Given the description of an element on the screen output the (x, y) to click on. 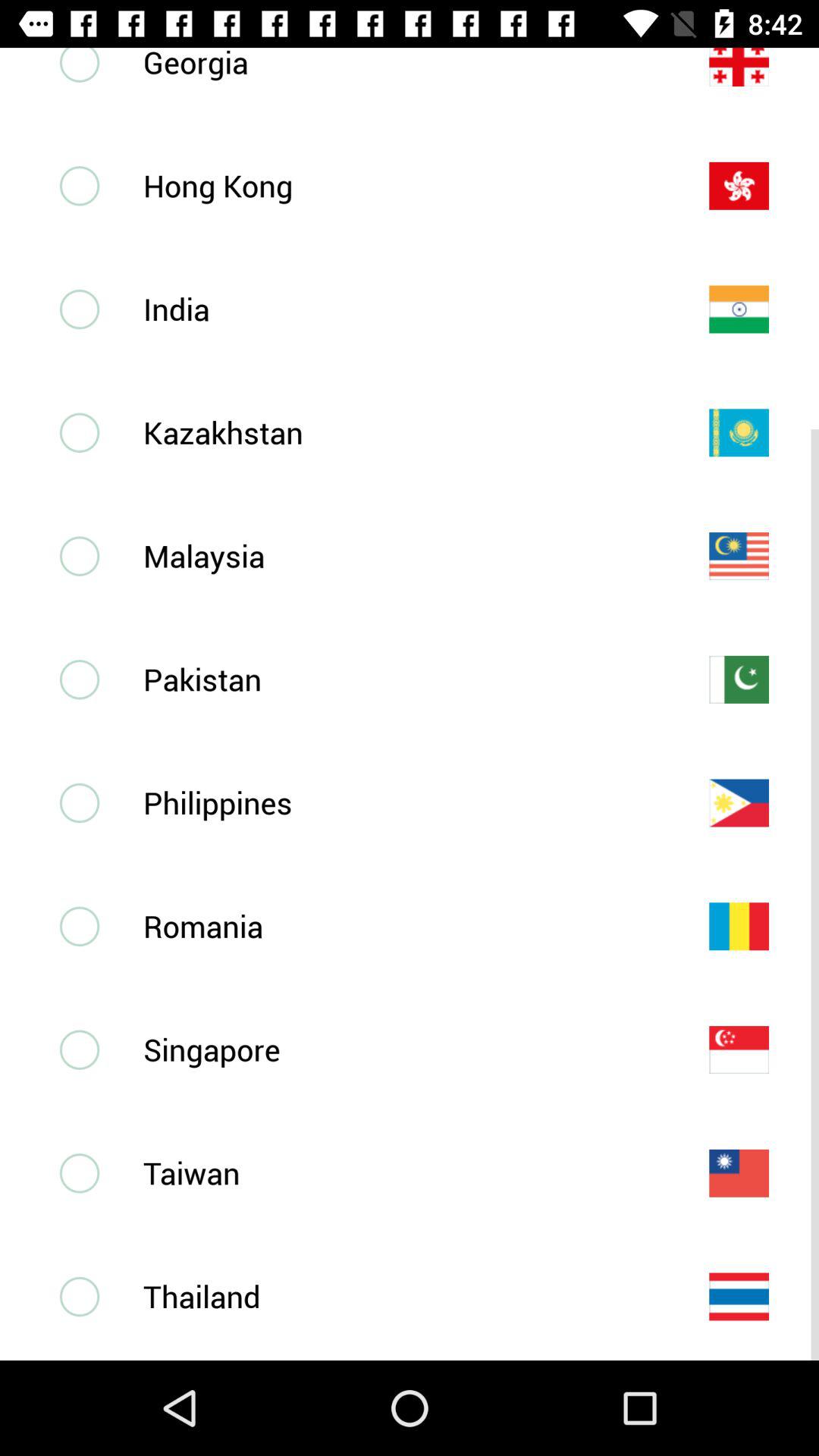
scroll until the taiwan icon (401, 1172)
